Given the description of an element on the screen output the (x, y) to click on. 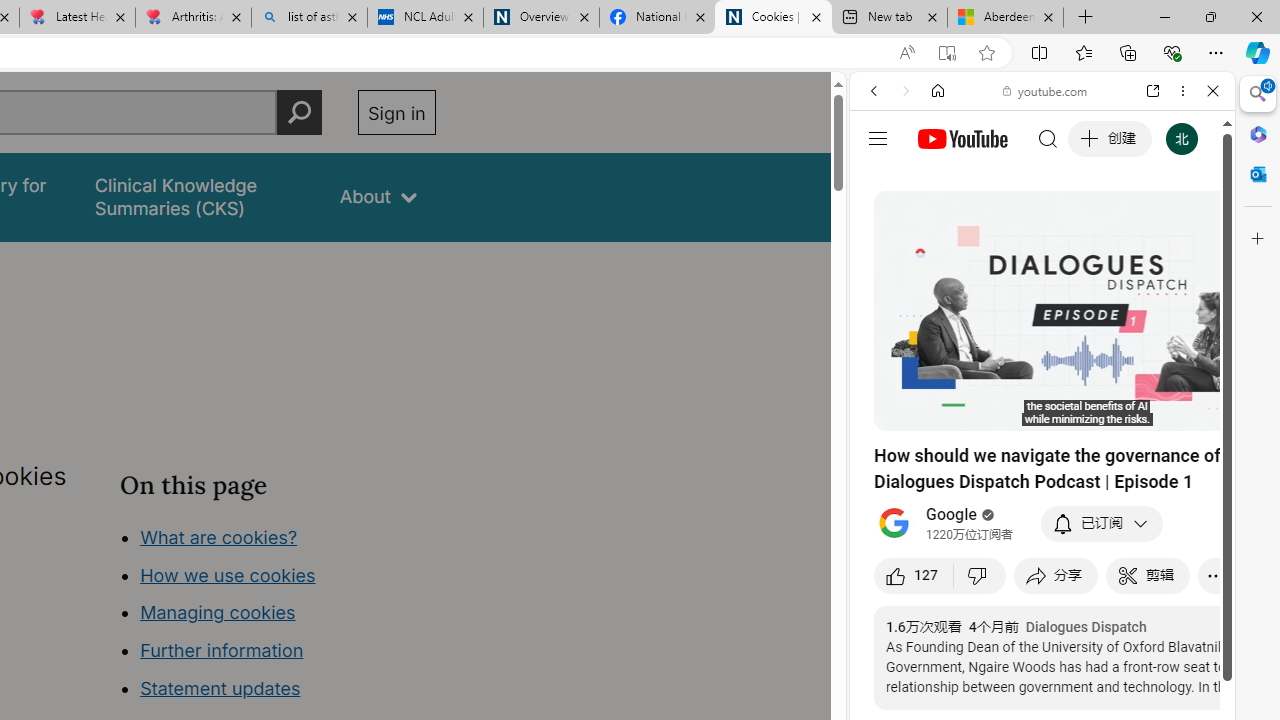
Class: ytp-subtitles-button-icon (1127, 412)
